Given the description of an element on the screen output the (x, y) to click on. 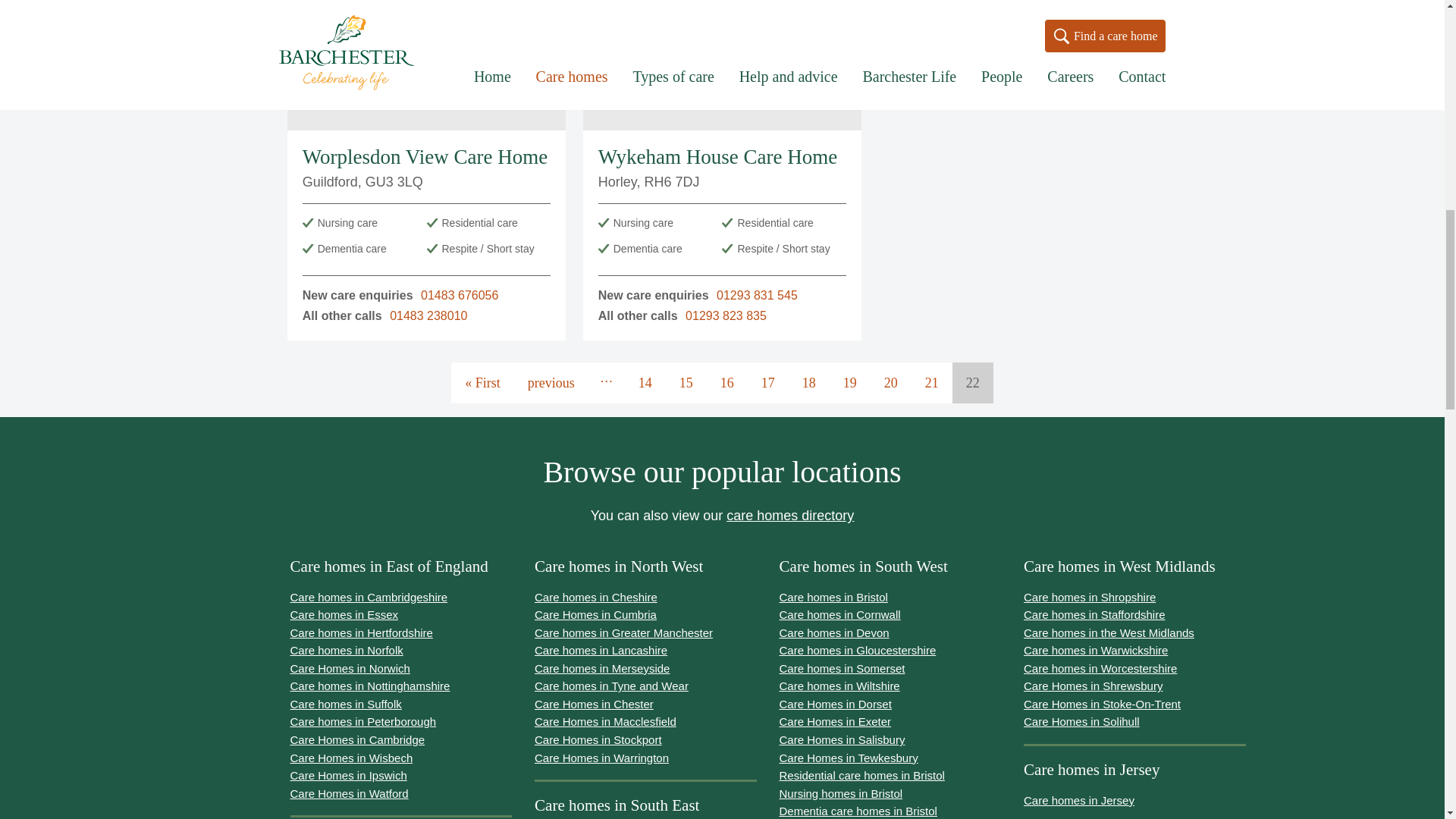
Go to page 16 (727, 382)
Go to previous page (550, 382)
Current page (972, 382)
Go to page 19 (849, 382)
Go to first page (482, 382)
Go to page 21 (931, 382)
Go to page 15 (685, 382)
Go to page 17 (768, 382)
Go to page 14 (644, 382)
Go to page 20 (890, 382)
Go to page 18 (809, 382)
